Given the description of an element on the screen output the (x, y) to click on. 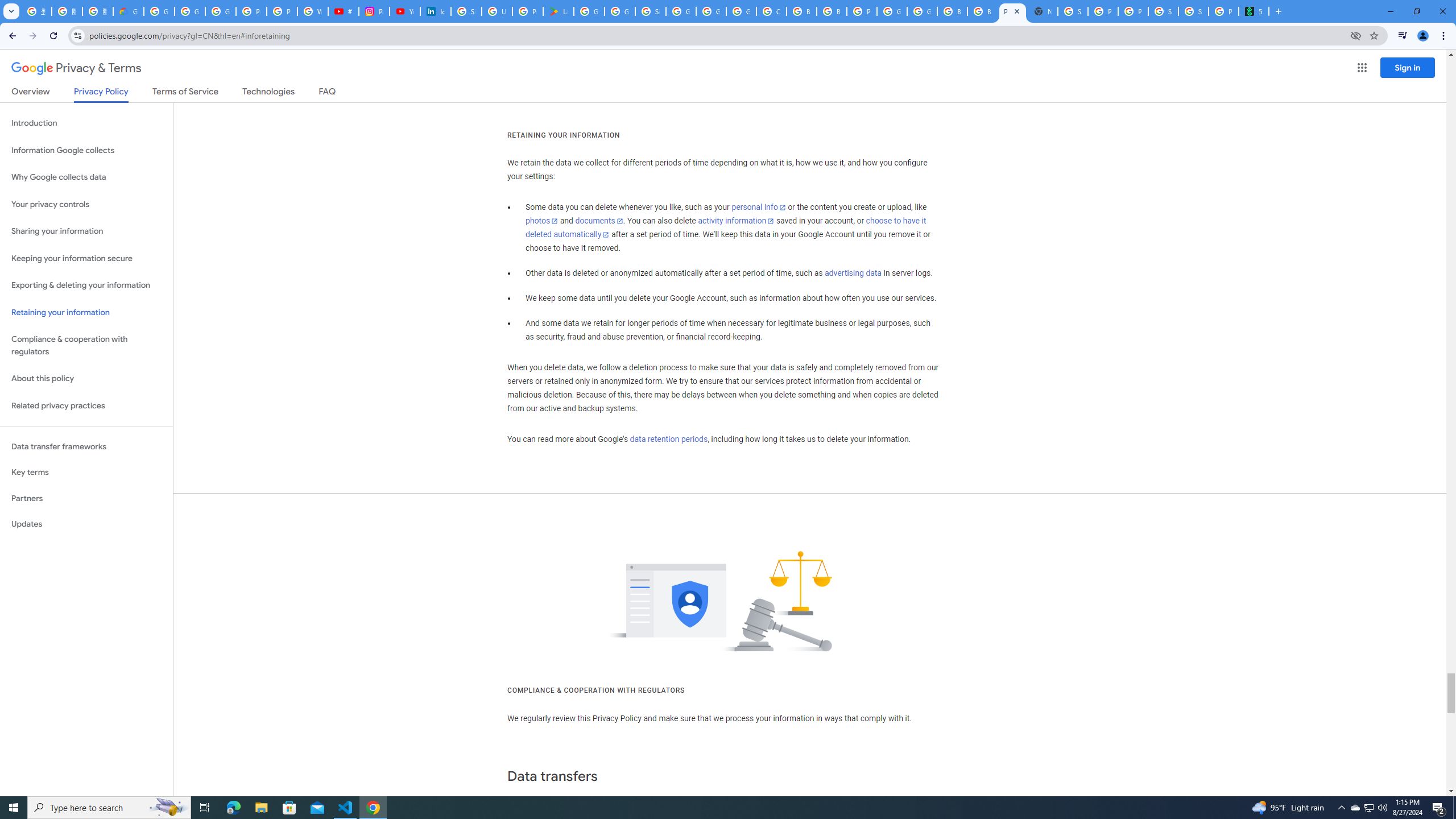
data retention periods (667, 439)
activity information (735, 221)
Sign in - Google Accounts (650, 11)
New Tab (1042, 11)
Your privacy controls (86, 204)
Overview (30, 93)
Technologies (268, 93)
